Given the description of an element on the screen output the (x, y) to click on. 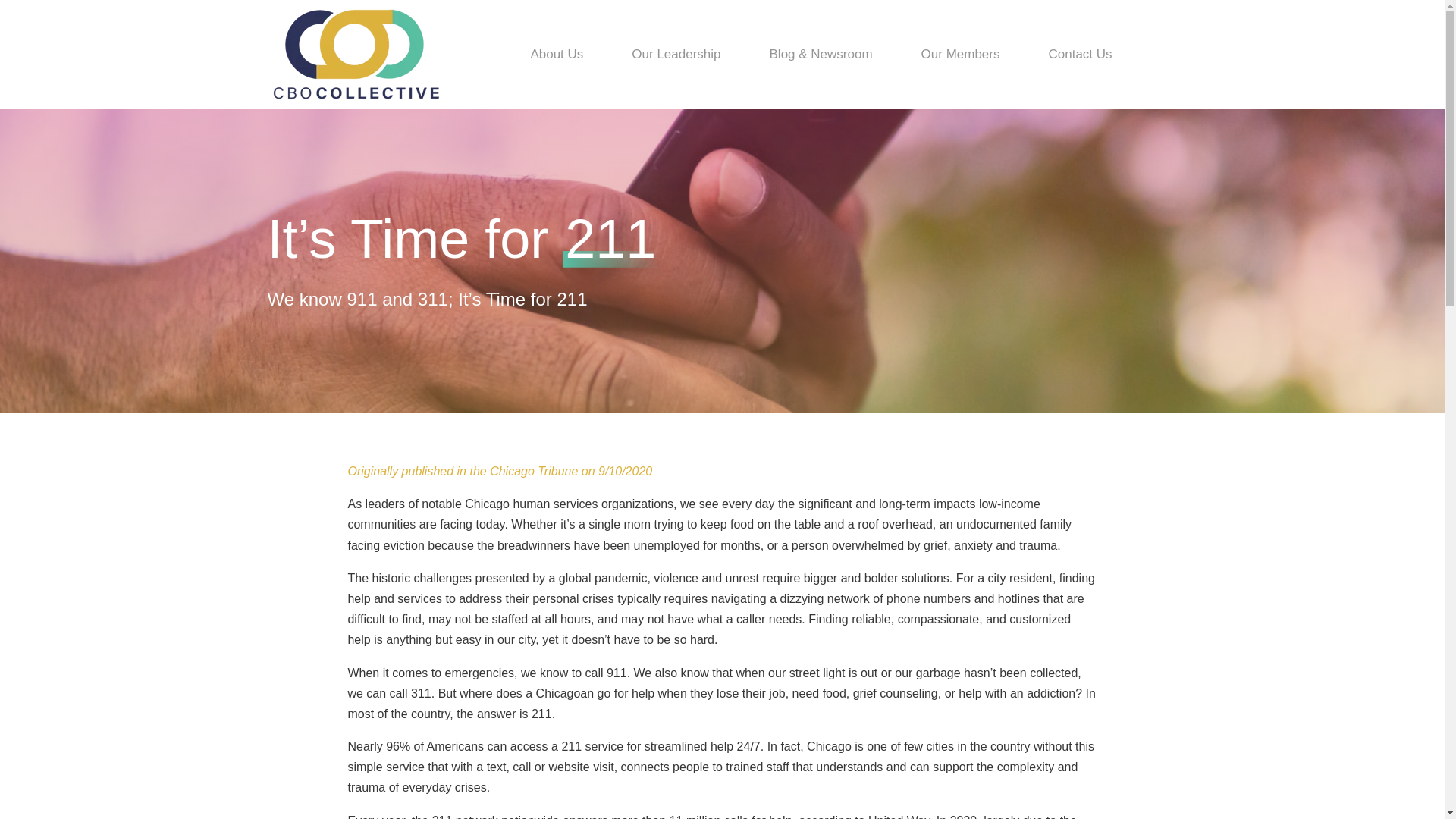
About Us (556, 54)
Our Leadership (675, 54)
Our Members (960, 54)
Contact Us (1079, 54)
